Given the description of an element on the screen output the (x, y) to click on. 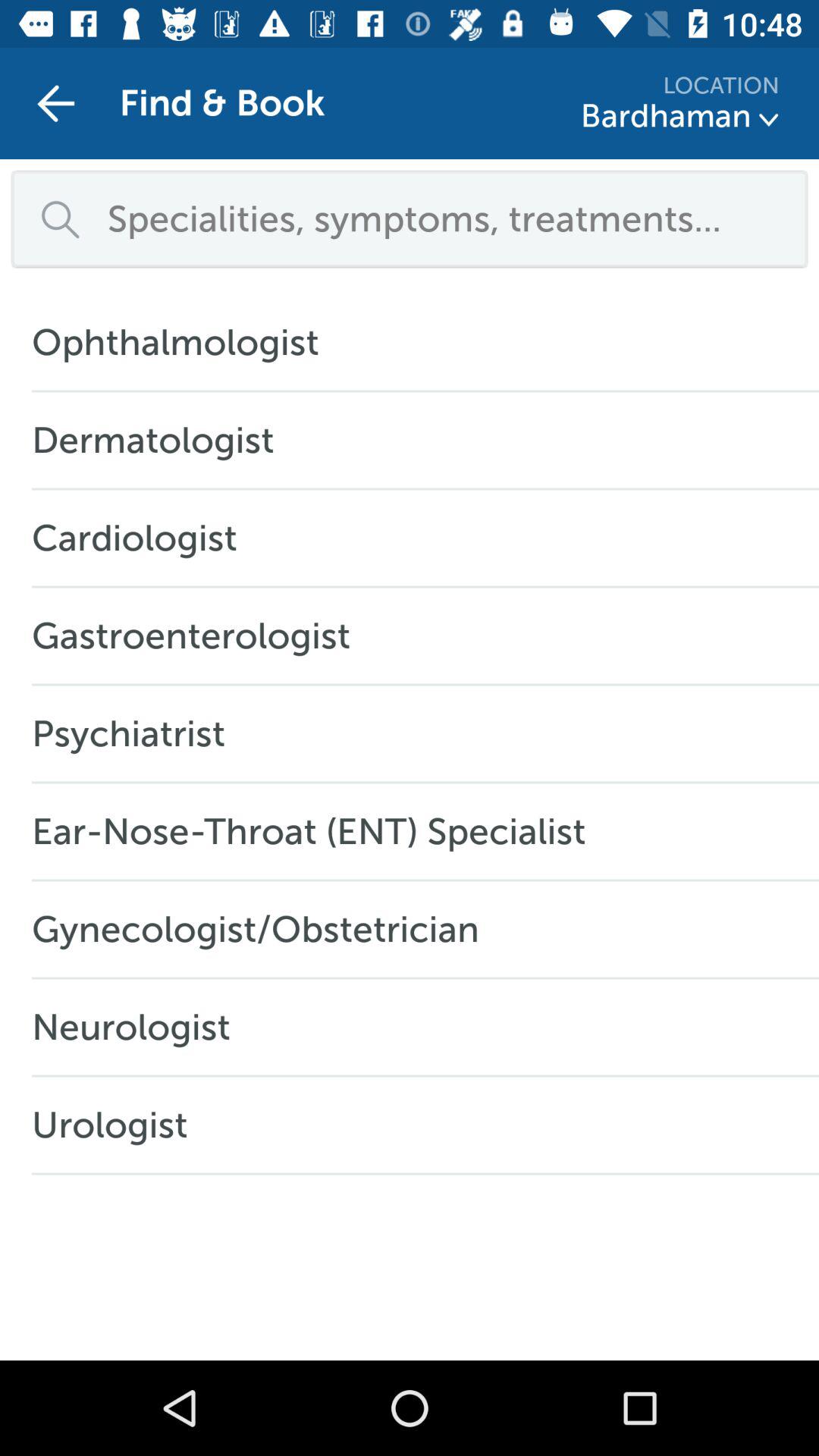
launch item above neurologist (263, 928)
